Given the description of an element on the screen output the (x, y) to click on. 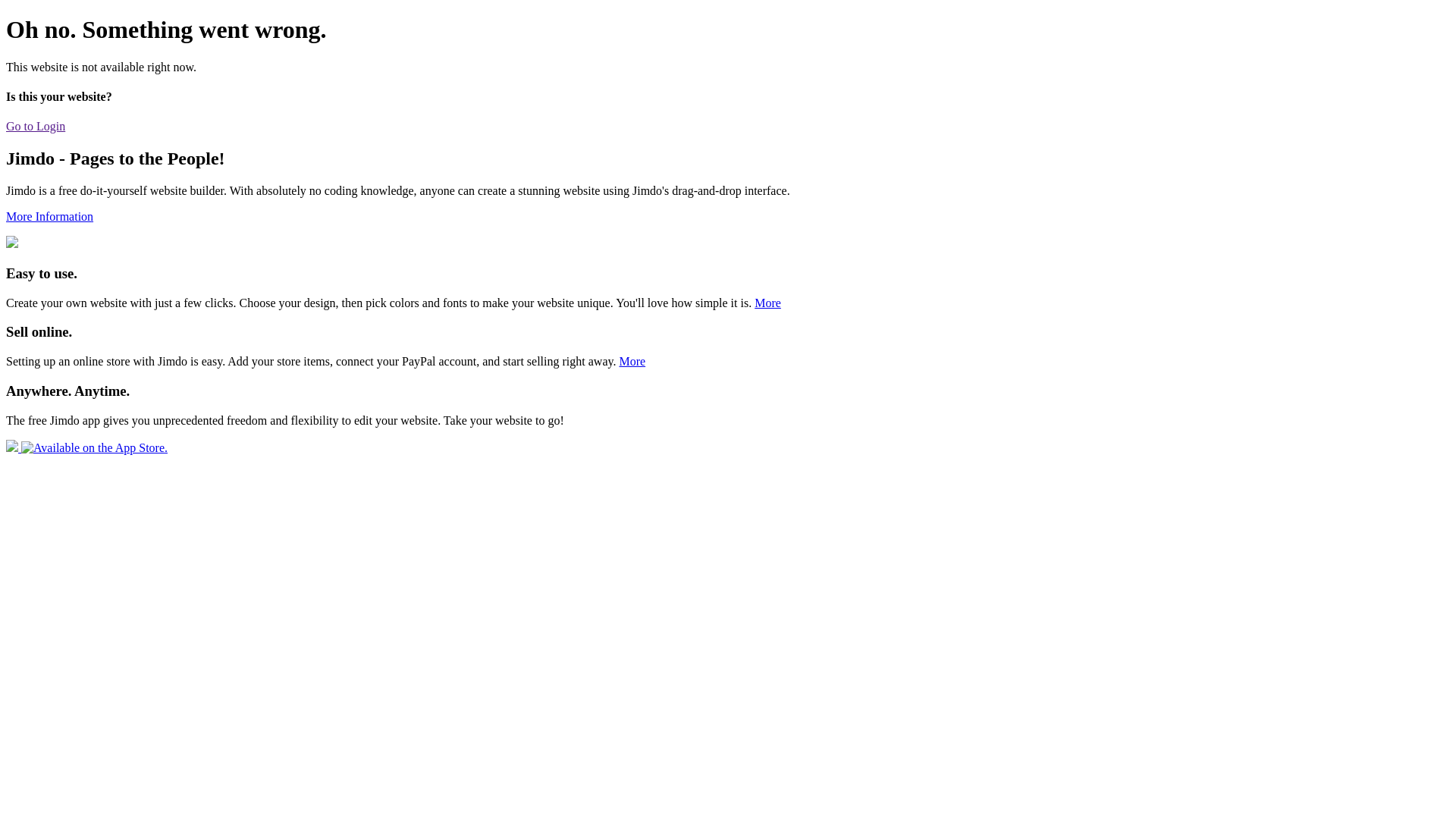
Available on the App Store. Element type: hover (86, 447)
More Element type: text (631, 360)
More Element type: text (767, 302)
Go to Login Element type: text (35, 125)
More Information Element type: text (49, 216)
